Given the description of an element on the screen output the (x, y) to click on. 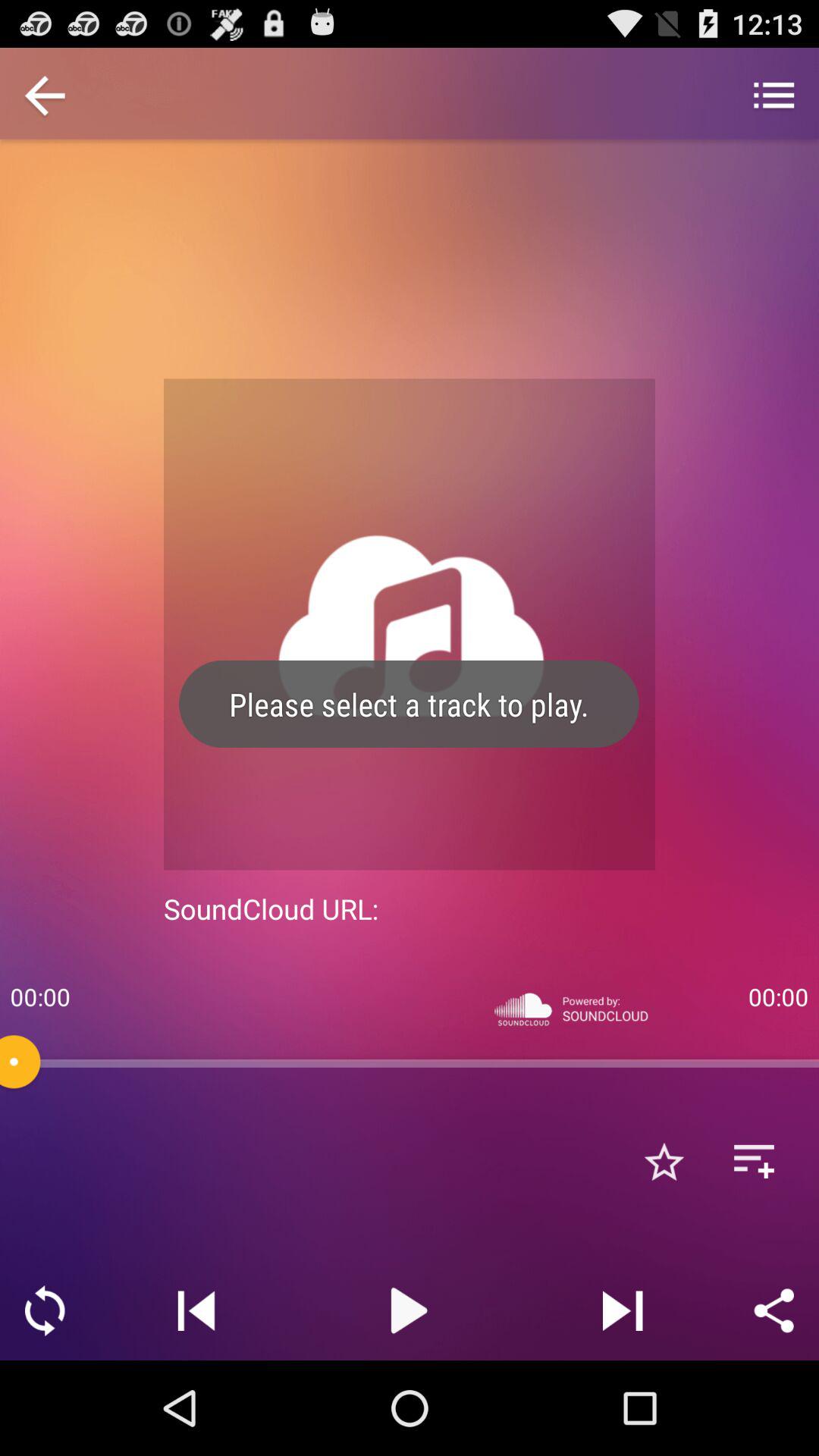
tap item at the top left corner (44, 97)
